Given the description of an element on the screen output the (x, y) to click on. 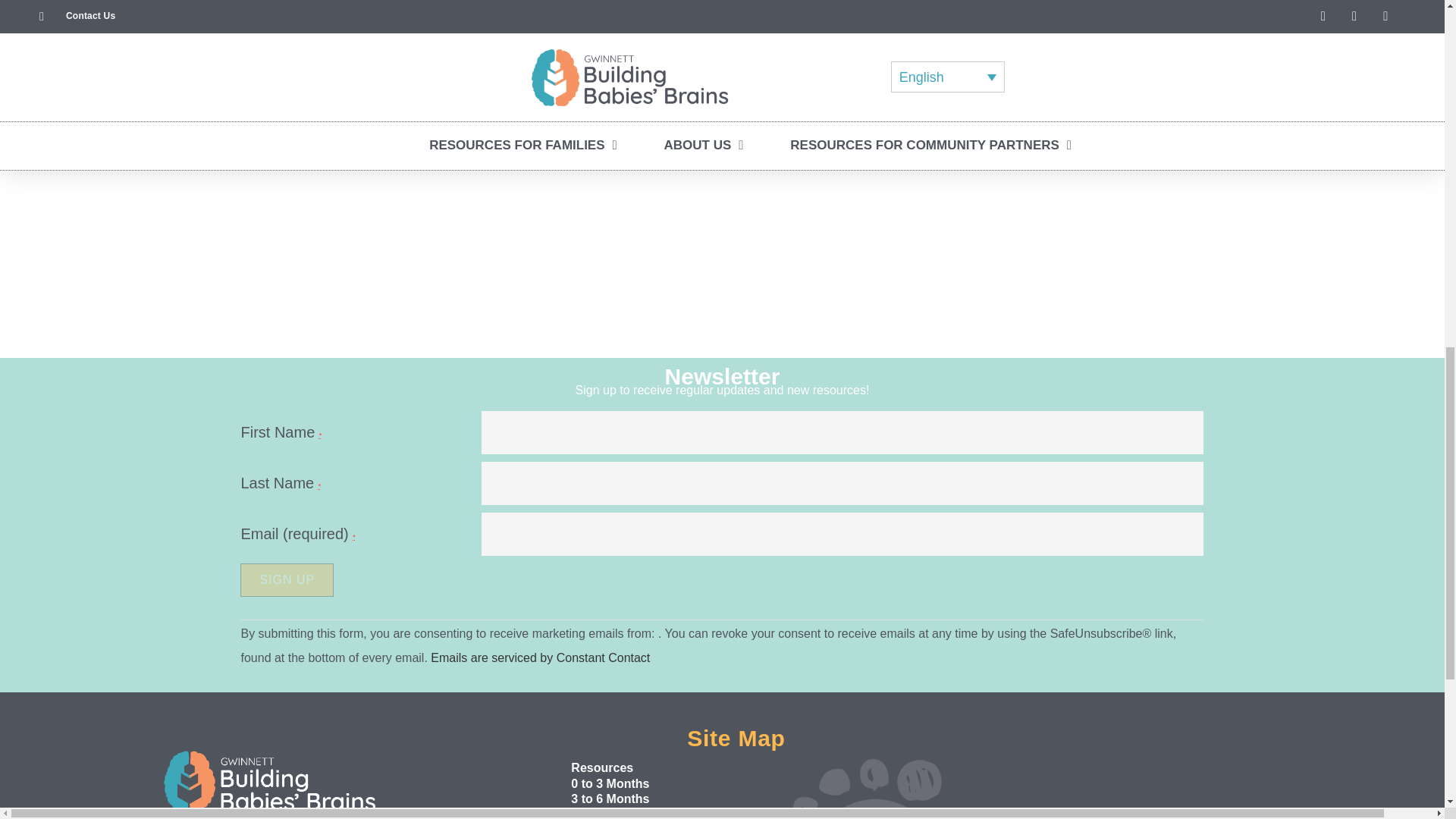
Sign up (286, 580)
Next Events (1085, 18)
Previous Events (368, 18)
